Given the description of an element on the screen output the (x, y) to click on. 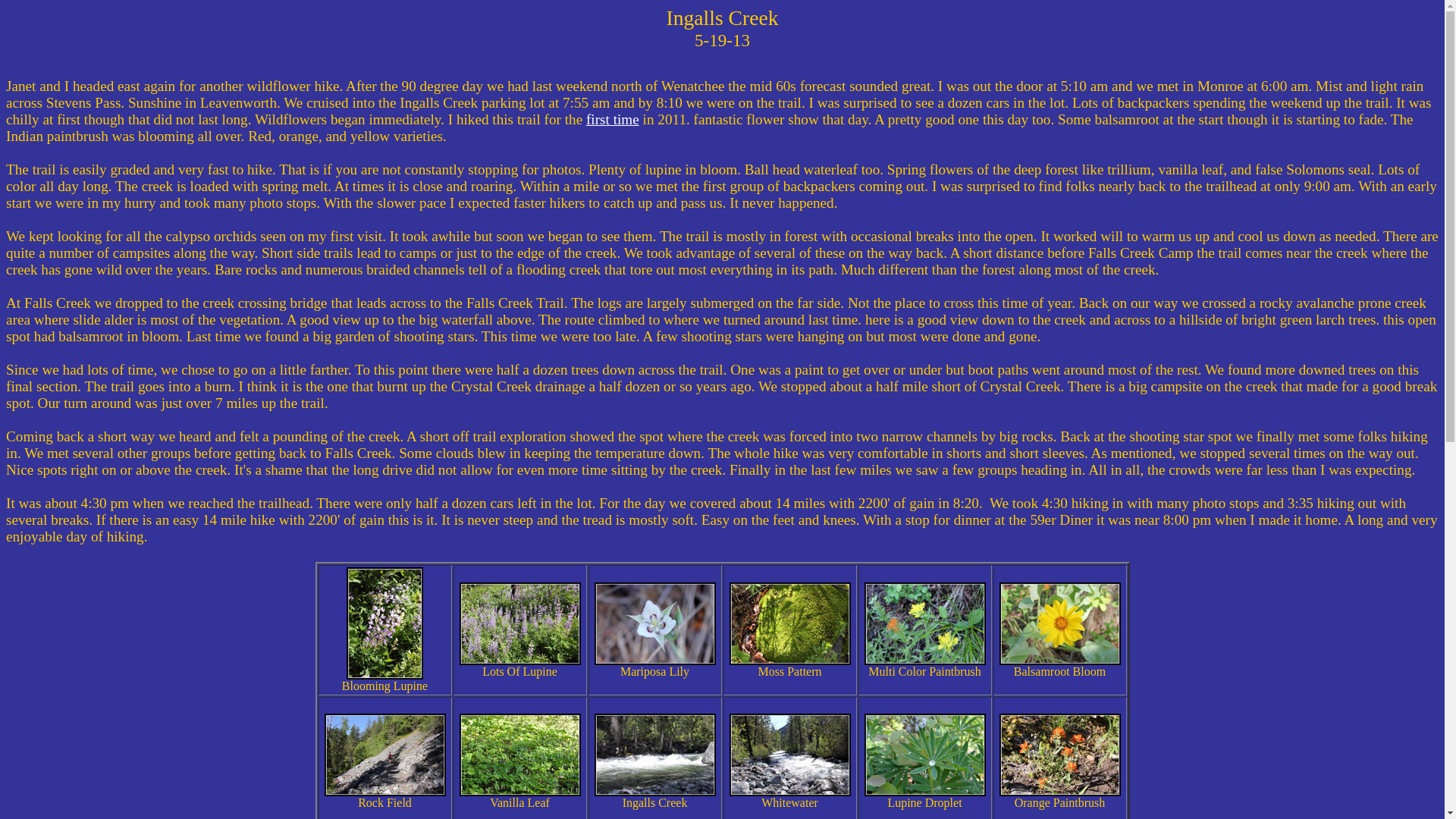
first time (612, 119)
